Given the description of an element on the screen output the (x, y) to click on. 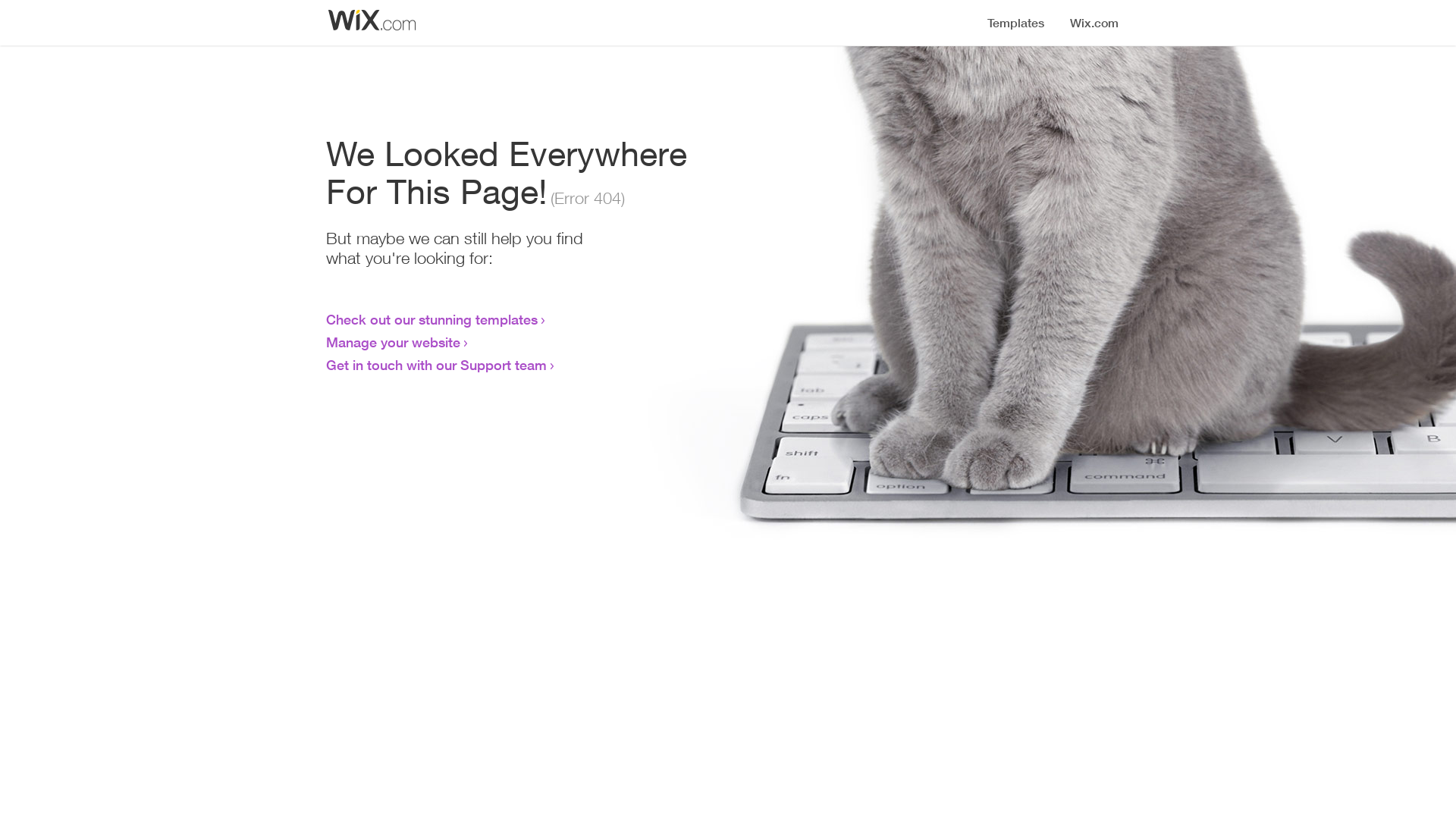
Manage your website Element type: text (393, 341)
Get in touch with our Support team Element type: text (436, 364)
Check out our stunning templates Element type: text (431, 318)
